Given the description of an element on the screen output the (x, y) to click on. 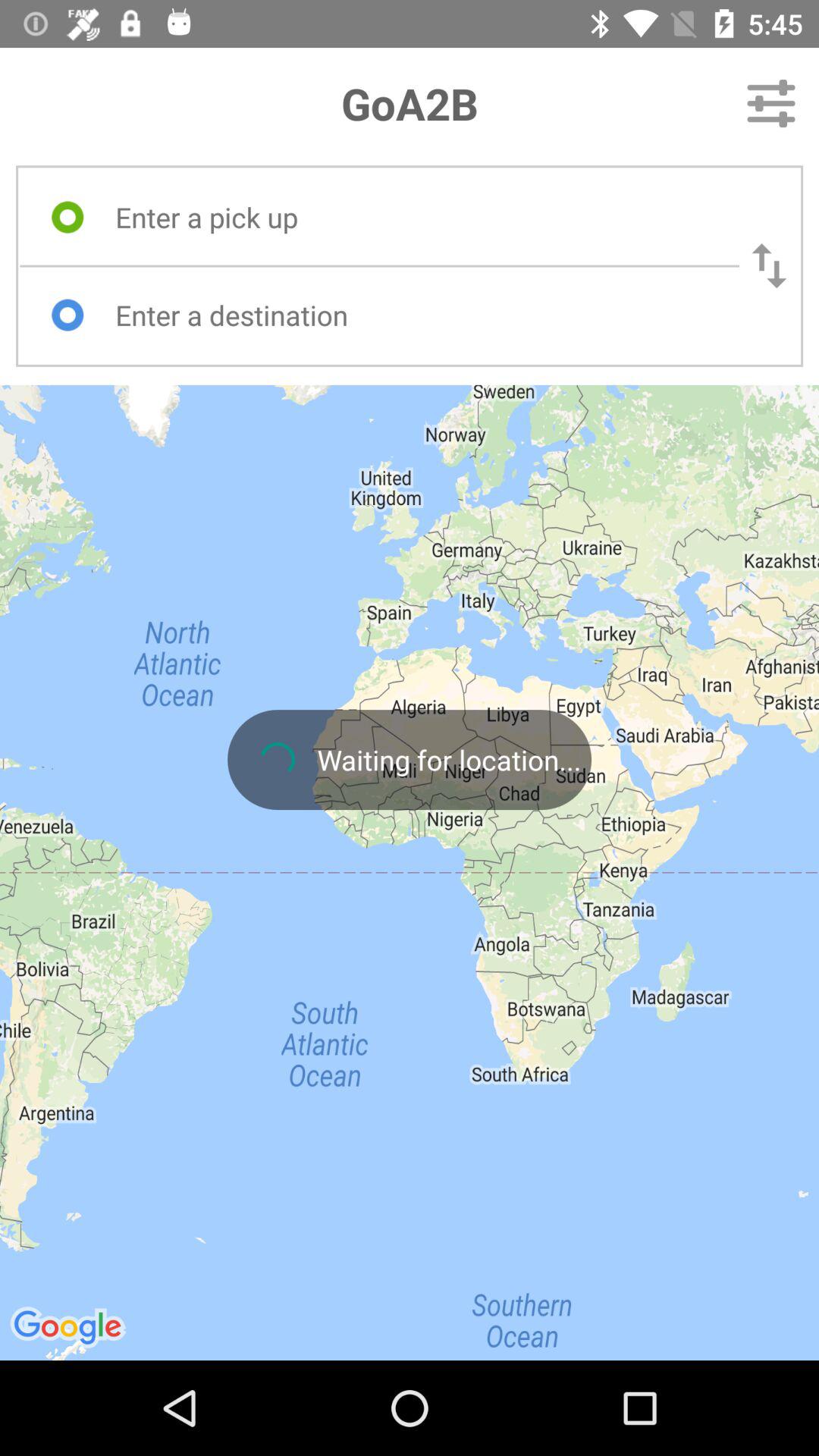
reverse starting point and destination (769, 265)
